Given the description of an element on the screen output the (x, y) to click on. 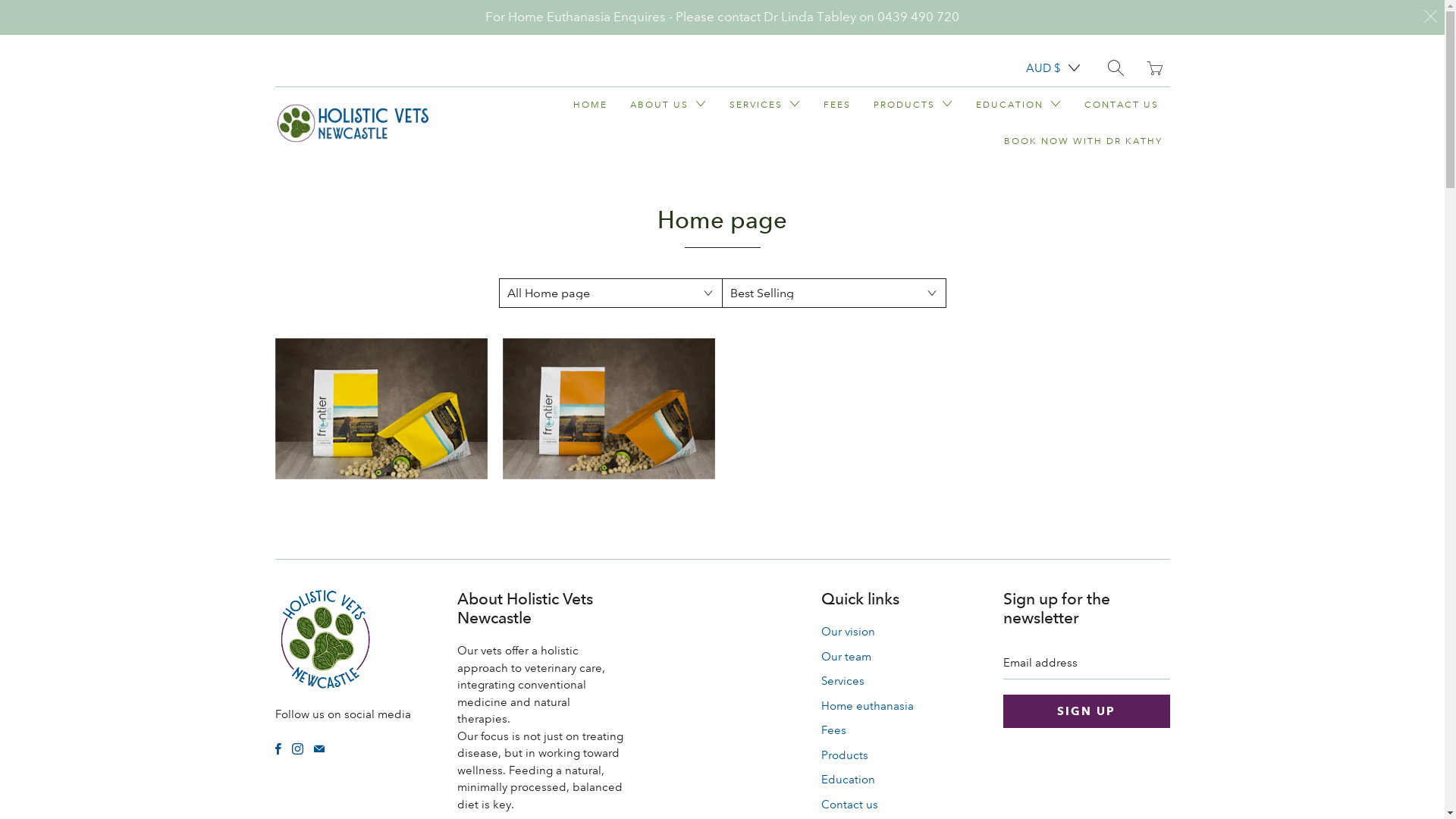
VND Element type: text (1136, 607)
BDT Element type: text (1053, 441)
TWD Element type: text (1136, 373)
UAH Element type: text (1136, 440)
BZD Element type: text (1053, 674)
Translation missing: en.layout.general.title Element type: text (1154, 67)
CAD Element type: text (1053, 707)
SHP Element type: text (1136, 139)
FEES Element type: text (836, 104)
AWG Element type: text (1053, 307)
BAM Element type: text (1053, 374)
Education Element type: text (847, 779)
THB Element type: text (1136, 240)
BOOK NOW WITH DR KATHY Element type: text (1083, 140)
WST Element type: text (1136, 673)
BGN Element type: text (1053, 474)
AED Element type: text (1053, 107)
SLL Element type: text (1136, 173)
ALL Element type: text (1053, 174)
UZS Element type: text (1136, 573)
BSD Element type: text (1053, 607)
BBD Element type: text (1053, 407)
Contact us Element type: text (848, 804)
SEK Element type: text (1136, 73)
CHF Element type: text (1053, 774)
Products Element type: text (843, 755)
BOB Element type: text (1053, 574)
BWP Element type: text (1053, 641)
Our vision Element type: text (847, 631)
Fees Element type: text (832, 730)
HOME Element type: text (590, 104)
Search Element type: hover (1114, 67)
XCD Element type: text (1136, 740)
TZS Element type: text (1136, 406)
Our team Element type: text (845, 656)
CONTACT US Element type: text (1121, 104)
TTD Element type: text (1136, 340)
XOF Element type: text (1136, 773)
Email Holistic Vets Newcastle Element type: hover (318, 748)
CDF Element type: text (1053, 741)
AUD Element type: text (1053, 274)
BIF Element type: text (1053, 507)
EDUCATION Element type: text (1017, 104)
XAF Element type: text (1136, 707)
ABOUT US Element type: text (667, 104)
UYU Element type: text (1136, 540)
AFN Element type: text (1053, 140)
Frontier Pets Dog Food, Chicken Flavour Varieties Element type: text (380, 409)
USD Element type: text (1136, 507)
VUV Element type: text (1136, 640)
STD Element type: text (1136, 206)
TJS Element type: text (1136, 273)
AZN Element type: text (1053, 340)
TOP Element type: text (1136, 306)
UGX Element type: text (1136, 473)
Holistic Vets Newcastle on Instagram Element type: hover (296, 748)
AMD Element type: text (1053, 207)
PRODUCTS Element type: text (913, 104)
Holistic Vets Newcastle on Facebook Element type: hover (277, 748)
Services Element type: text (841, 680)
BND Element type: text (1053, 541)
SGD Element type: text (1136, 106)
Sign Up Element type: text (1085, 711)
ANG Element type: text (1053, 240)
AUD $ Element type: text (1050, 68)
Frontier Pets Dog Food, Beef Flavour Varieties Element type: text (608, 409)
SERVICES Element type: text (764, 104)
SBD Element type: text (1136, 39)
Home euthanasia Element type: text (866, 705)
